Given the description of an element on the screen output the (x, y) to click on. 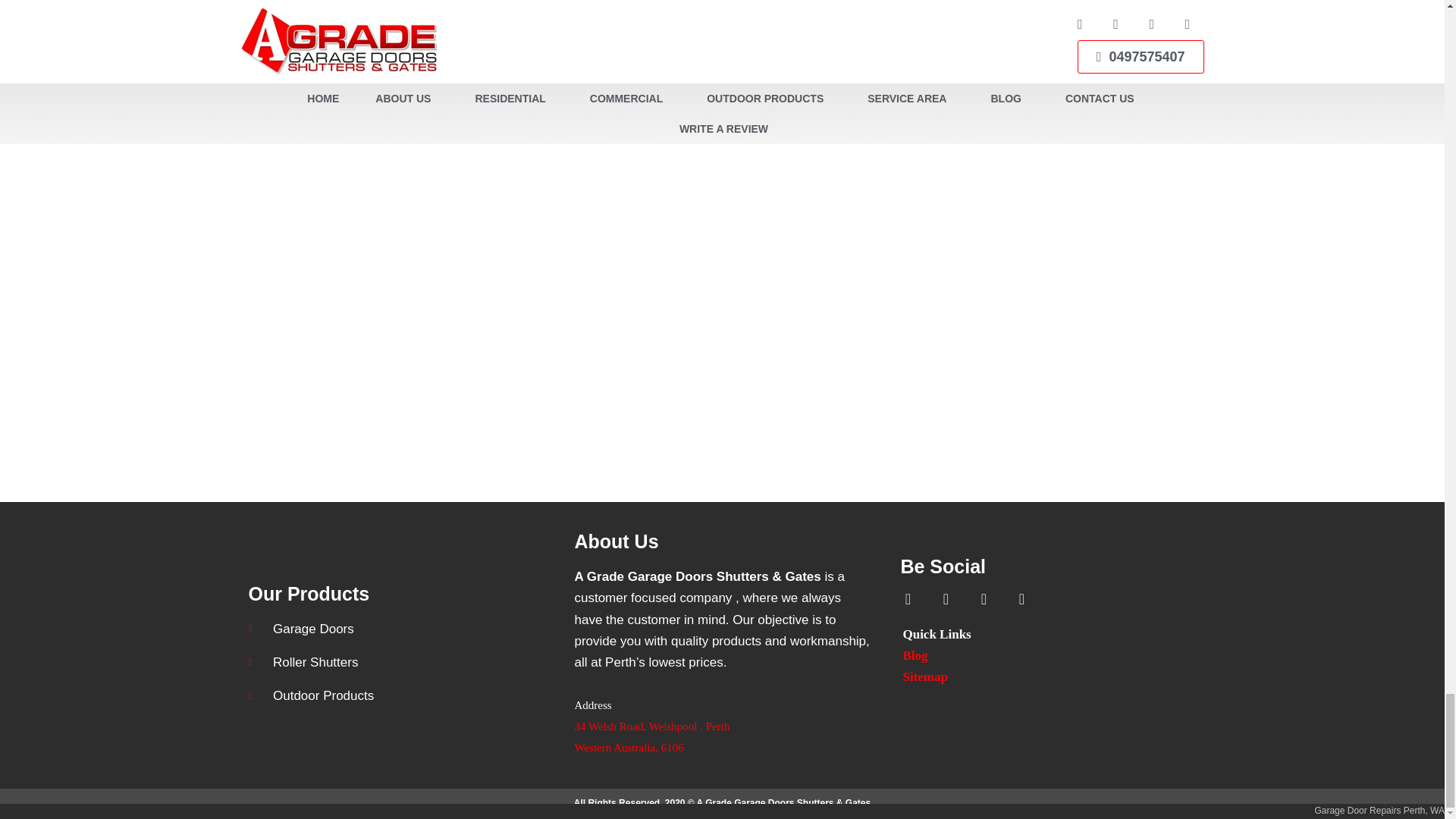
commercial roller doors (629, 131)
black home garage door (834, 131)
black industrial roller door (477, 28)
home black garage door (365, 131)
commercial roller doors (1059, 131)
garage door (966, 28)
